Given the description of an element on the screen output the (x, y) to click on. 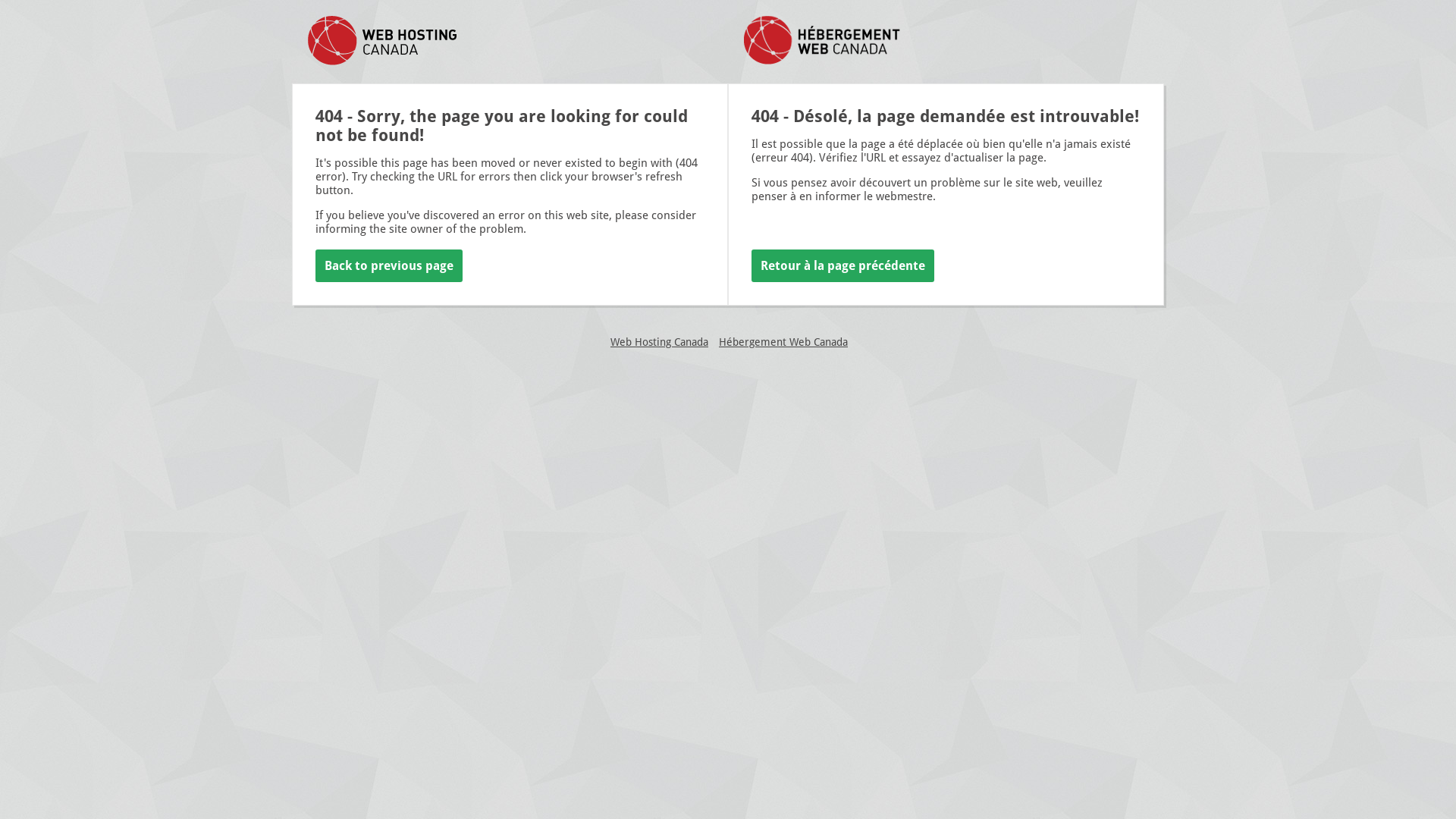
Web Hosting Canada Element type: text (659, 341)
Back to previous page Element type: text (388, 265)
